Given the description of an element on the screen output the (x, y) to click on. 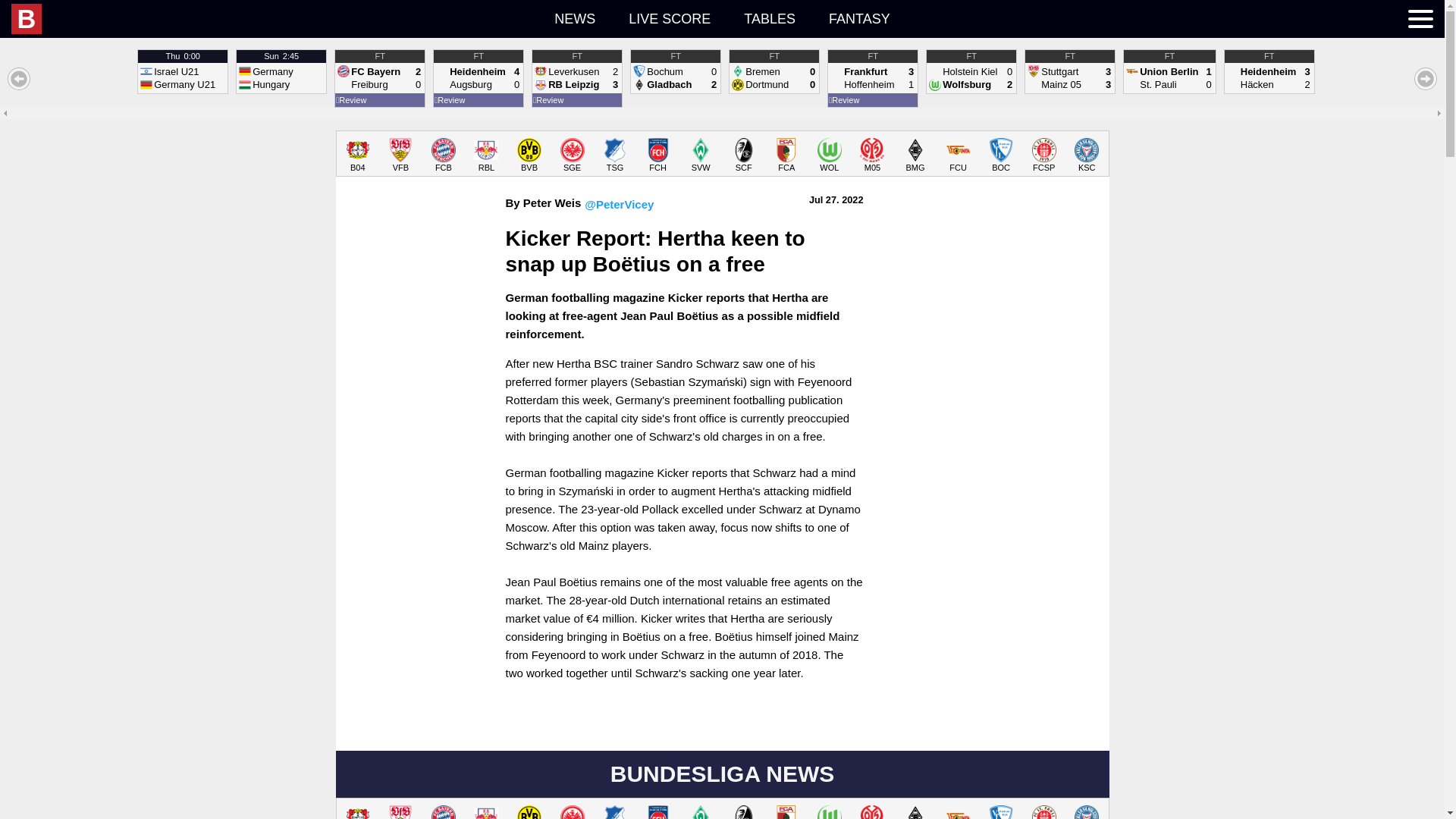
B (173, 19)
FANTASY (859, 18)
SGE (572, 154)
St. Pauli News (1043, 154)
Eintracht Frankfurt News (971, 71)
Gladbach News (572, 154)
